Given the description of an element on the screen output the (x, y) to click on. 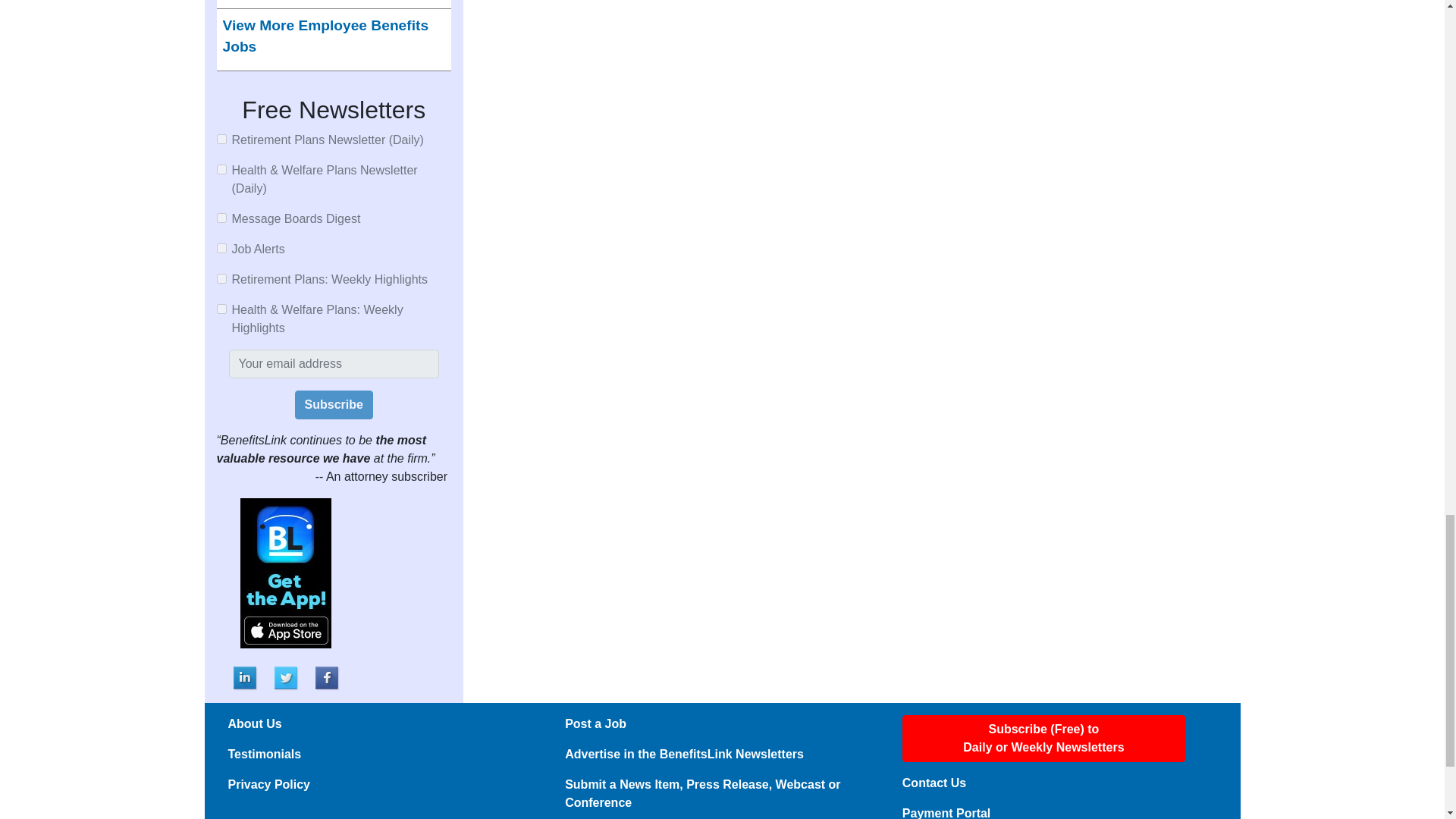
11  (221, 169)
36  (221, 278)
9  (221, 139)
12  (221, 217)
35  (221, 308)
3  (221, 248)
